Given the description of an element on the screen output the (x, y) to click on. 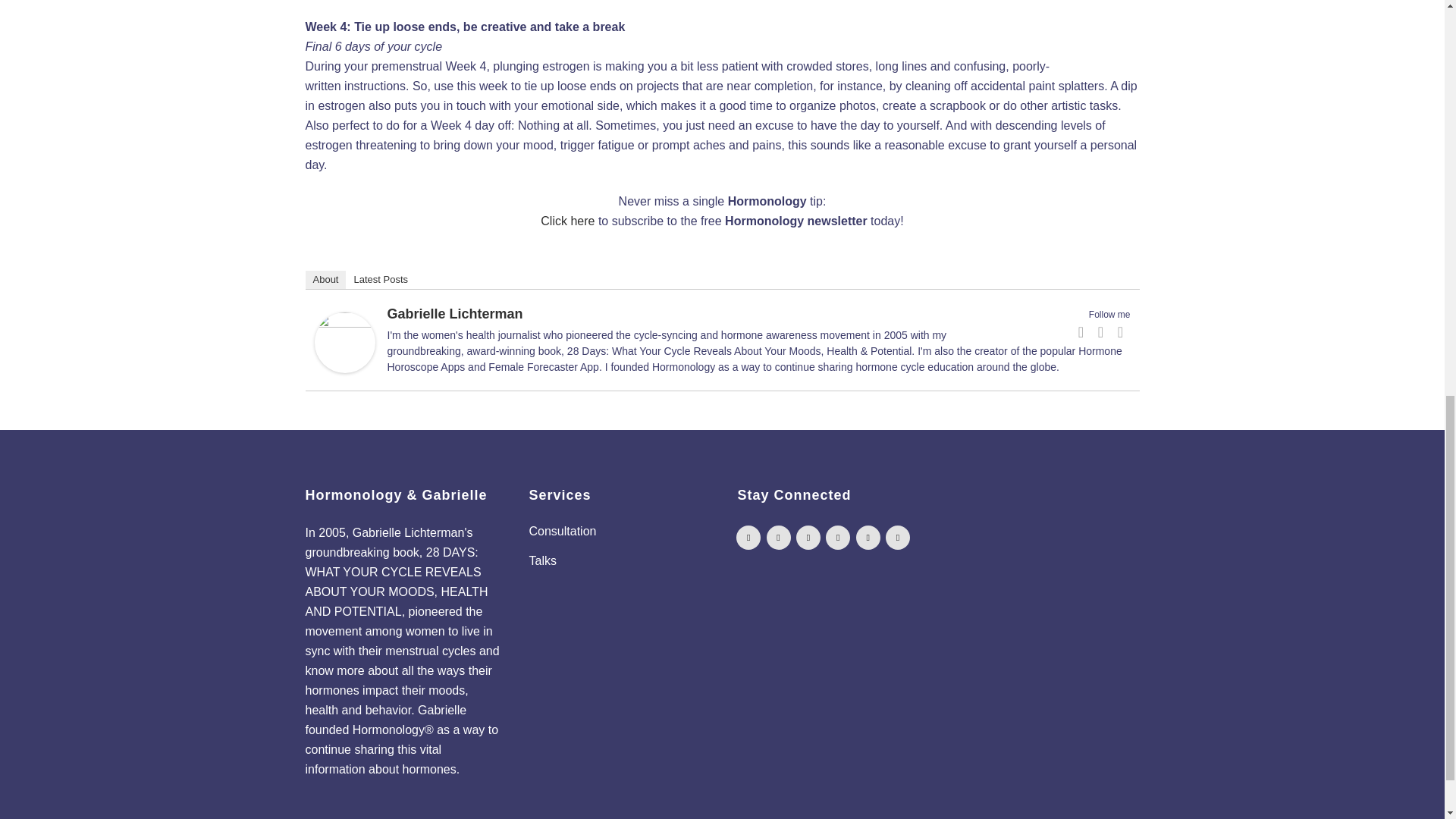
Twitter (1100, 331)
Instagram (1120, 331)
Gabrielle Lichterman (344, 368)
Facebook (1080, 331)
